Given the description of an element on the screen output the (x, y) to click on. 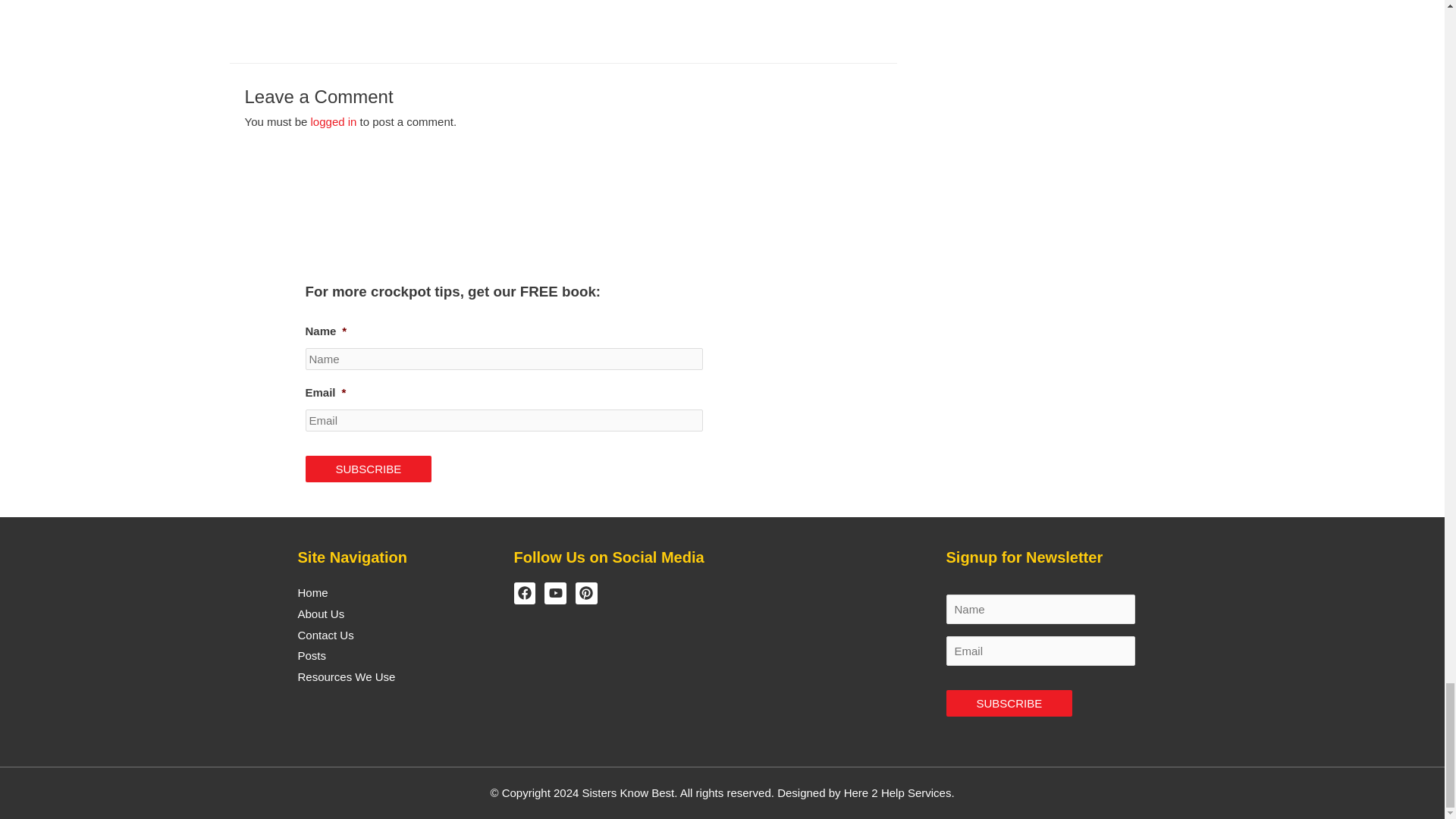
SUBSCRIBE (1009, 703)
SUBSCRIBE (367, 468)
